Given the description of an element on the screen output the (x, y) to click on. 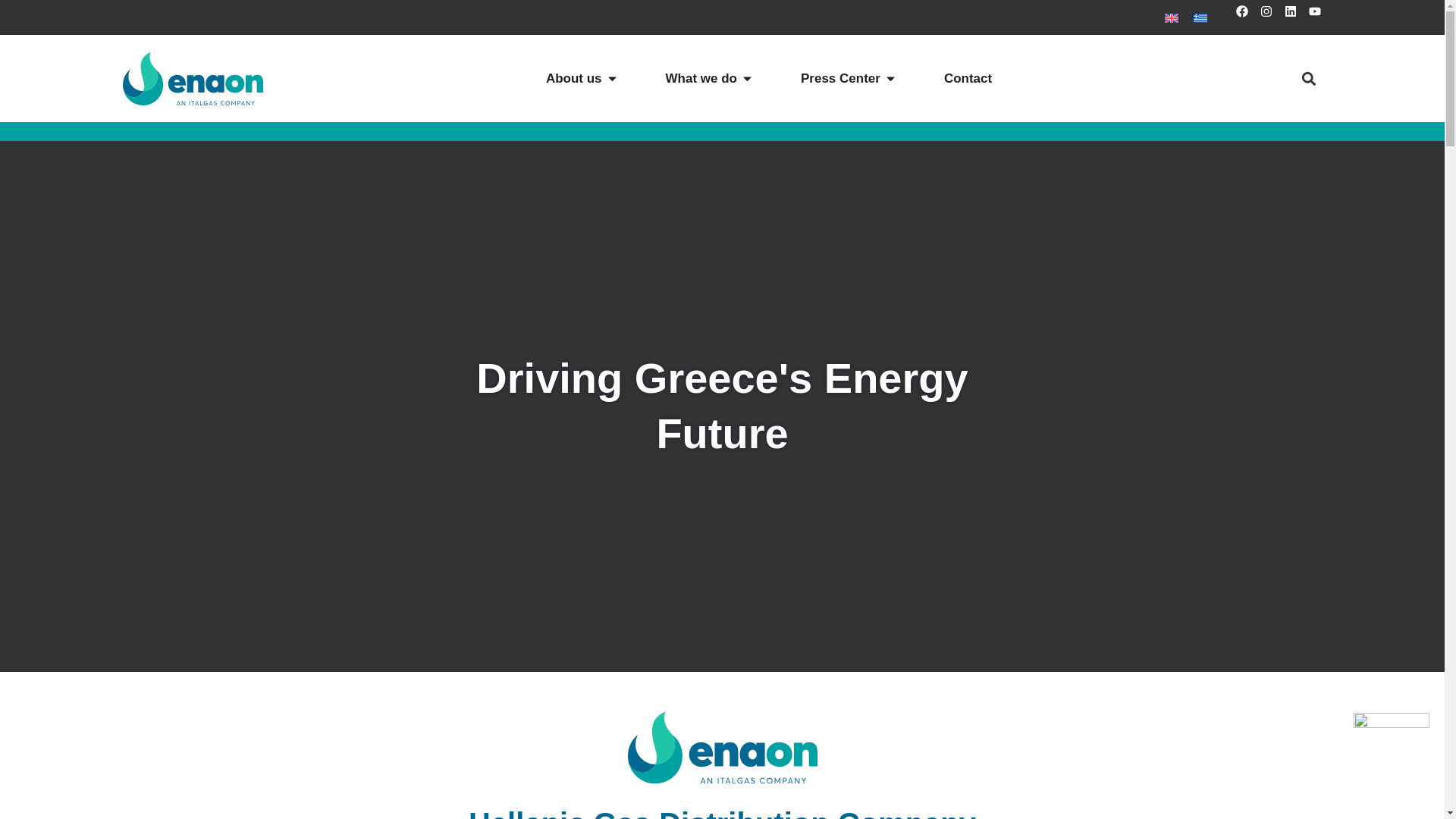
Contact (967, 78)
